Given the description of an element on the screen output the (x, y) to click on. 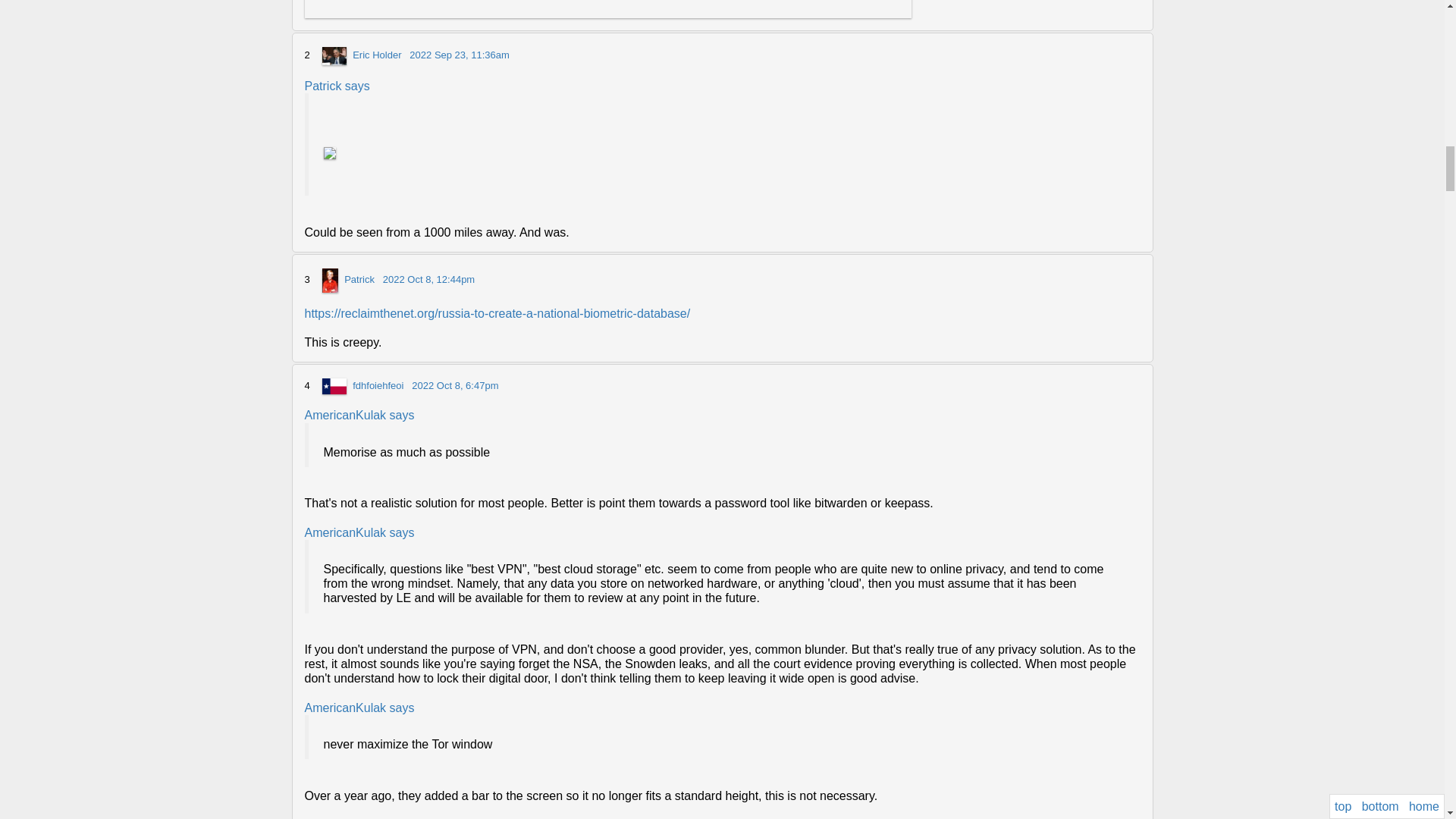
permalink to this comment (428, 279)
Eric Holder (376, 55)
permalink to this comment (459, 55)
2022 Sep 23, 11:36am (459, 55)
permalink to this comment (454, 385)
